Given the description of an element on the screen output the (x, y) to click on. 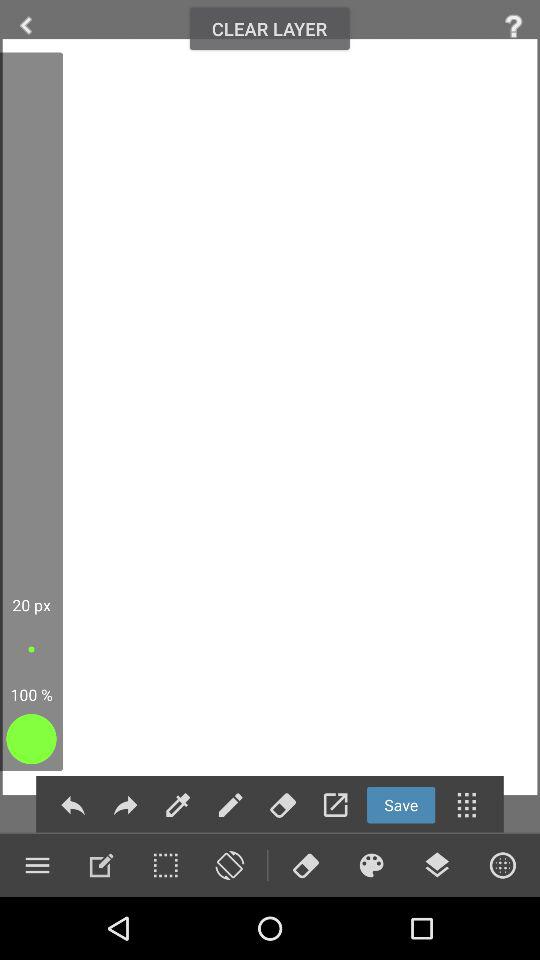
go to left (26, 26)
